Given the description of an element on the screen output the (x, y) to click on. 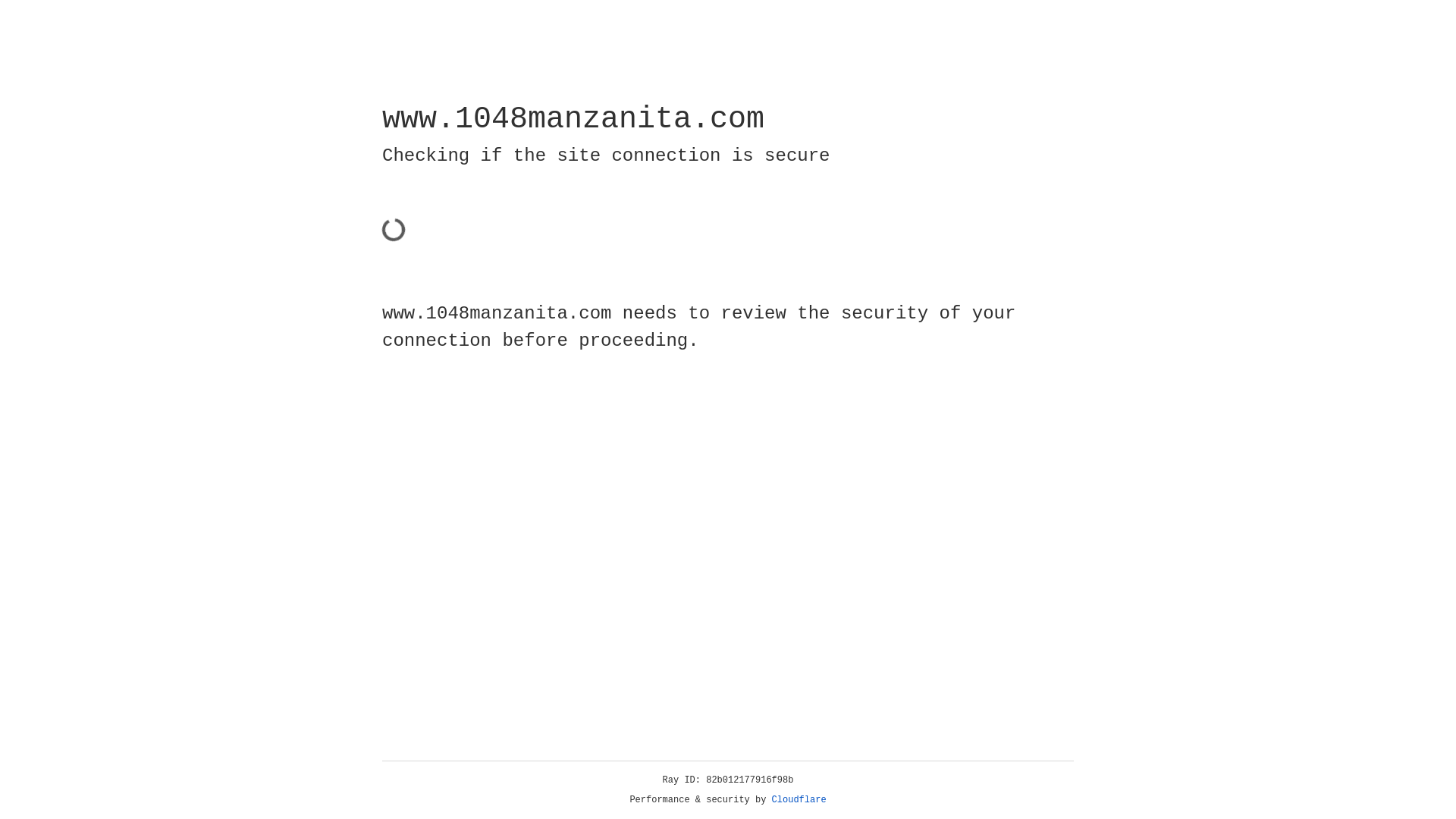
Cloudflare Element type: text (798, 799)
